Given the description of an element on the screen output the (x, y) to click on. 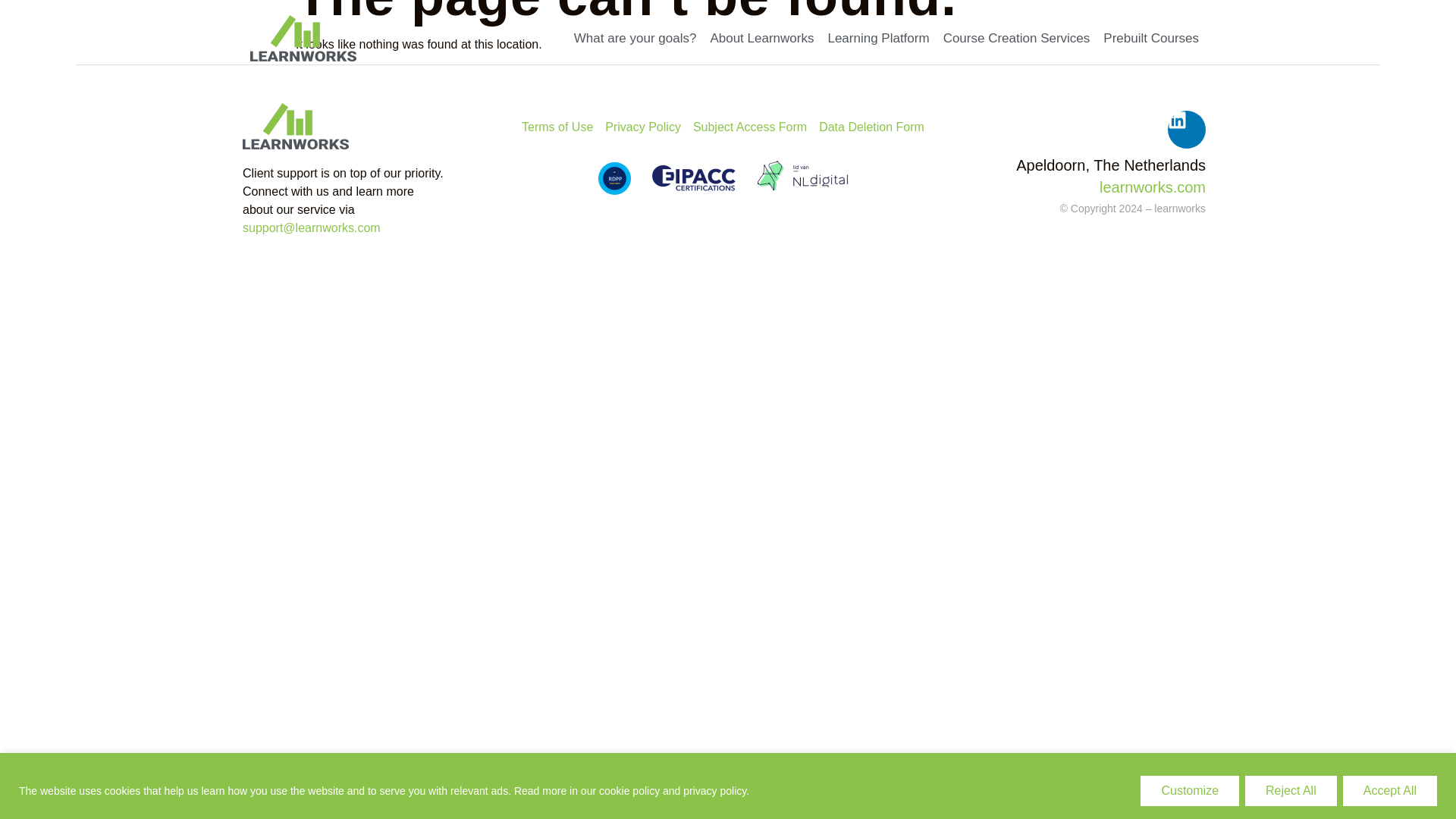
Privacy Policy (643, 126)
Prebuilt Courses (1150, 38)
Learning Platform (878, 38)
What are your goals? (635, 38)
About Learnworks (762, 38)
Course Creation Services (1016, 38)
Terms of Use (556, 126)
